Given the description of an element on the screen output the (x, y) to click on. 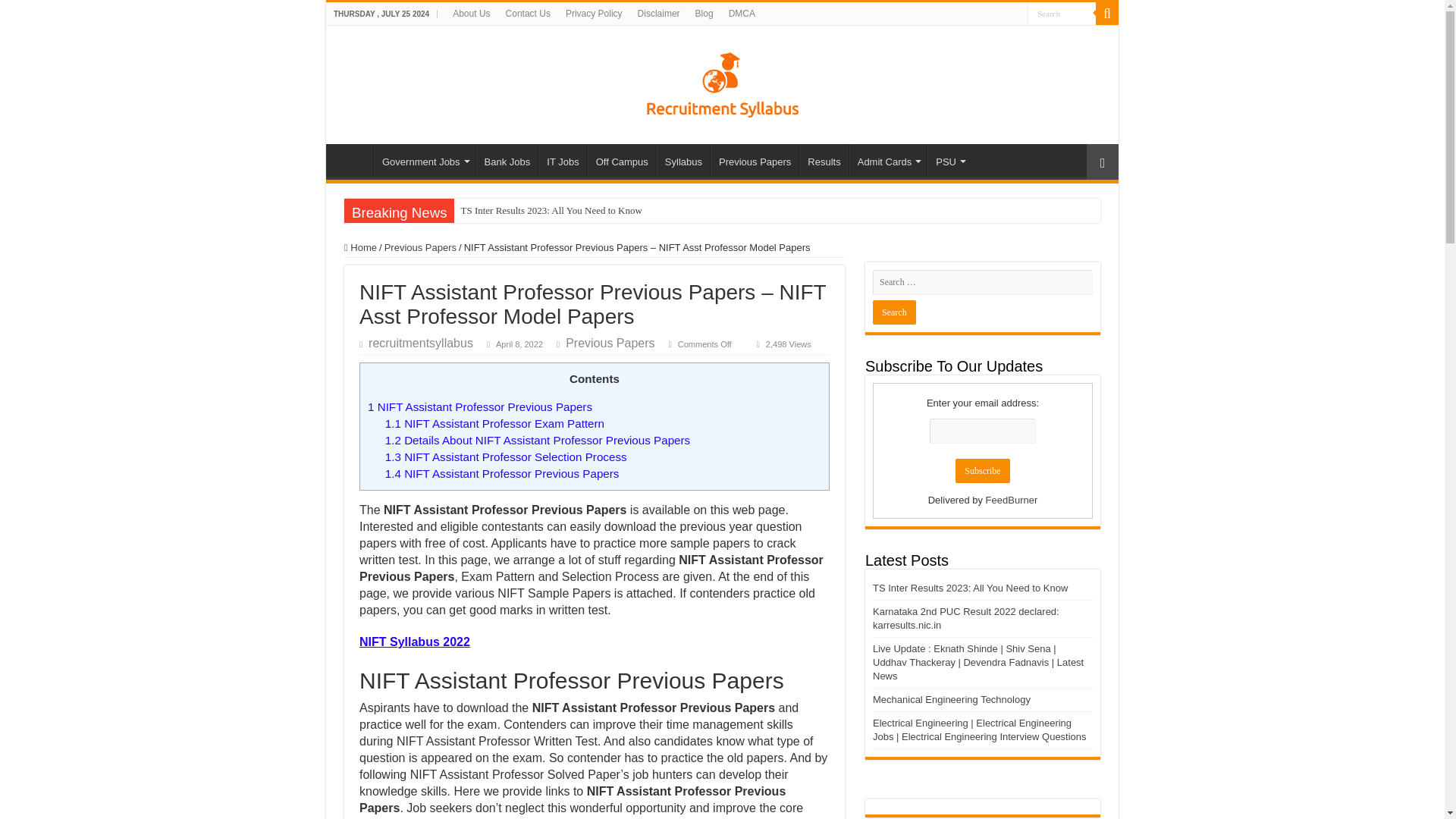
Recruitment Syllabus (721, 81)
Privacy Policy (593, 13)
Search (1061, 13)
Search (1061, 13)
Subscribe (982, 470)
Disclaimer (658, 13)
Results (823, 160)
Contact Us (527, 13)
Search (1061, 13)
DMCA (741, 13)
Syllabus (683, 160)
Random Article (1102, 161)
Bank Jobs (507, 160)
TS Inter Results 2023: All You Need to Know (651, 210)
Blog (703, 13)
